Given the description of an element on the screen output the (x, y) to click on. 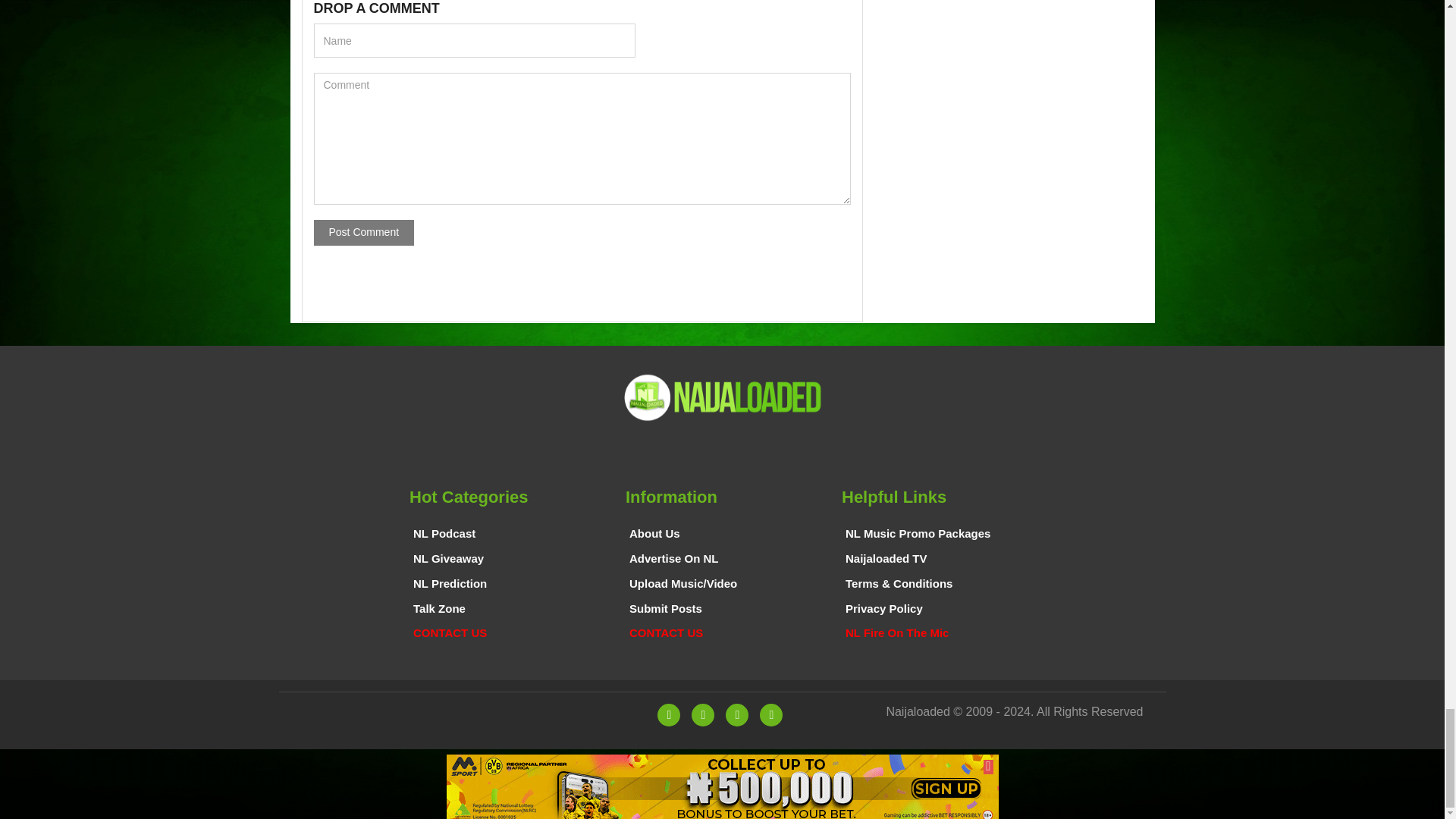
Post Comment (364, 232)
